Given the description of an element on the screen output the (x, y) to click on. 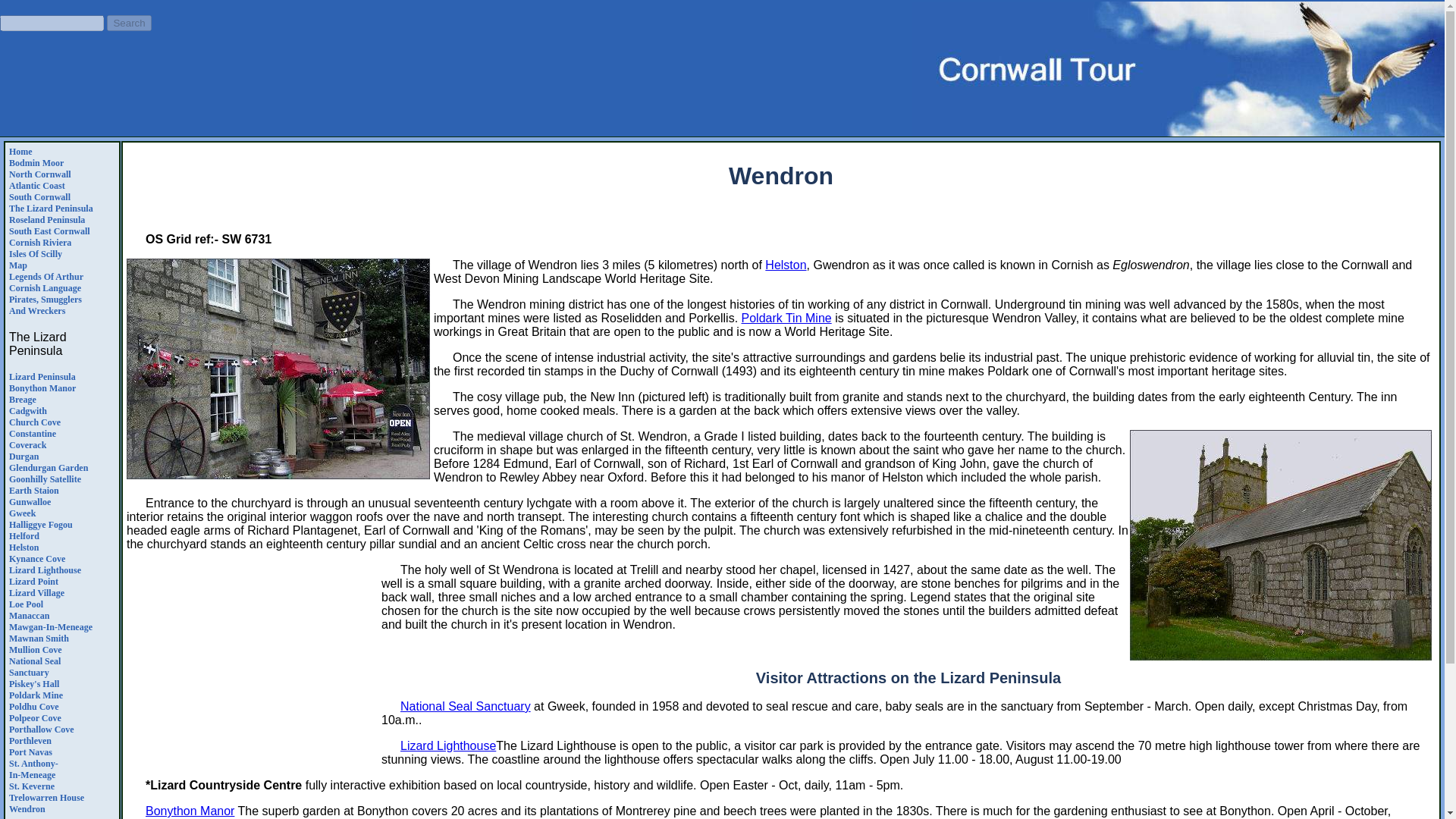
Bodmin Moor (36, 163)
Kynance Cove (36, 558)
Gweek (21, 512)
Cadgwith (27, 410)
The Lizard Peninsula (50, 208)
Constantine (32, 433)
Lizard Peninsula (41, 376)
Gunwalloe (29, 501)
Halliggye Fogou (40, 524)
Lizard Village (36, 593)
